Given the description of an element on the screen output the (x, y) to click on. 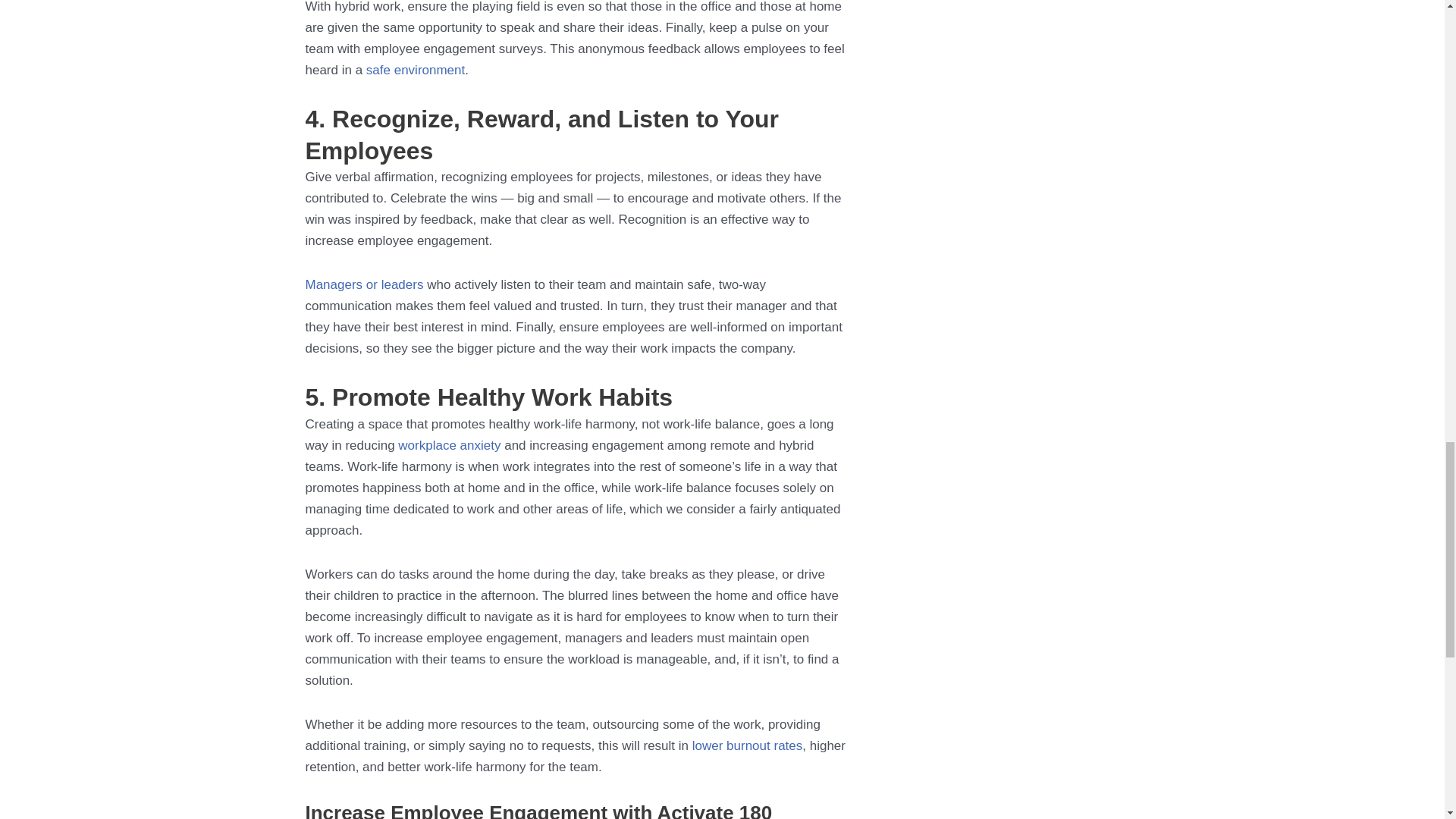
safe environment (415, 69)
lower burnout rates (748, 745)
workplace anxiety (448, 445)
Managers or leaders (363, 284)
